Given the description of an element on the screen output the (x, y) to click on. 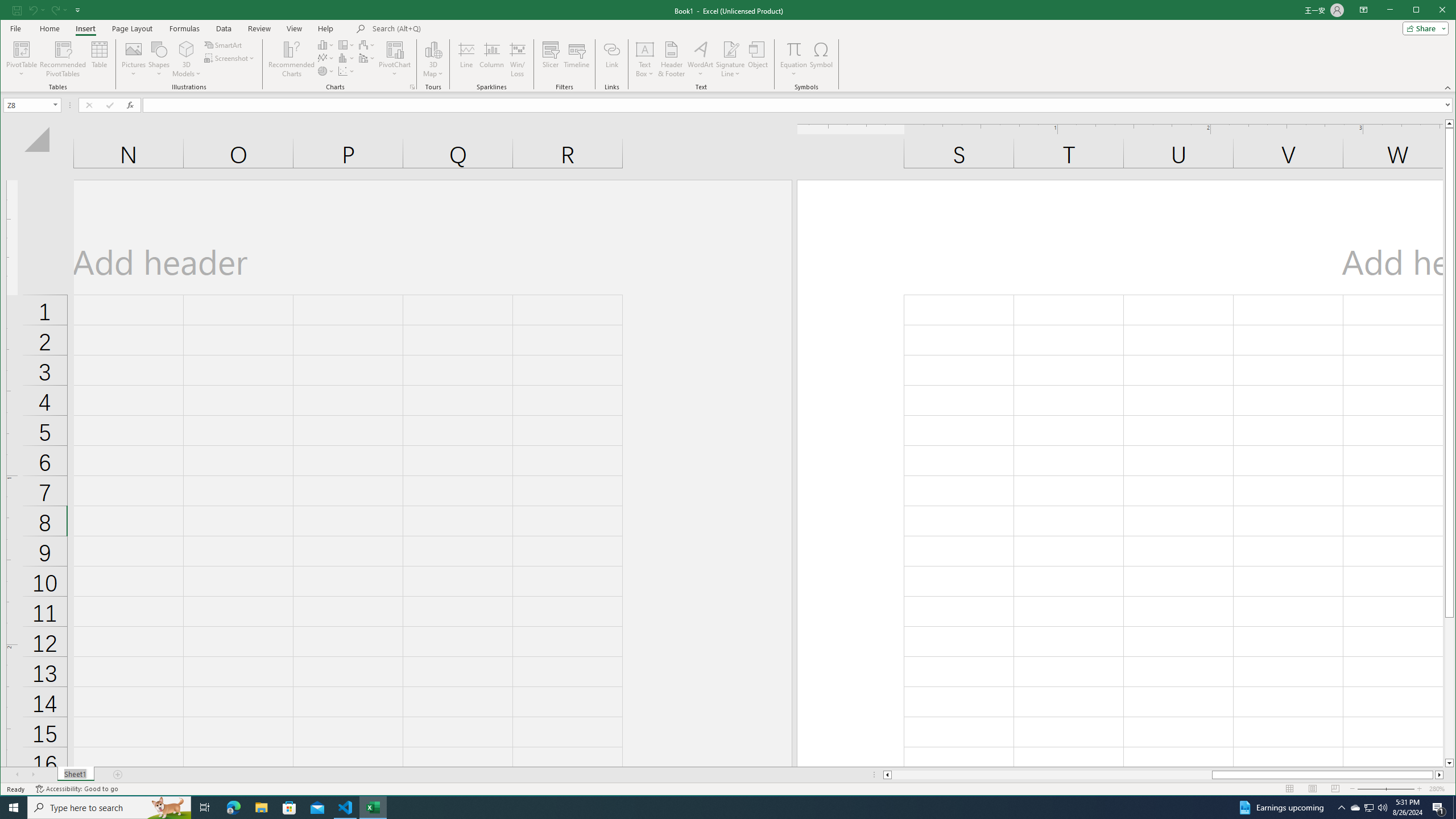
Equation (793, 48)
Screenshot (229, 57)
PivotChart (394, 48)
Draw Horizontal Text Box (644, 48)
Show desktop (1454, 807)
3D Map (432, 48)
